Given the description of an element on the screen output the (x, y) to click on. 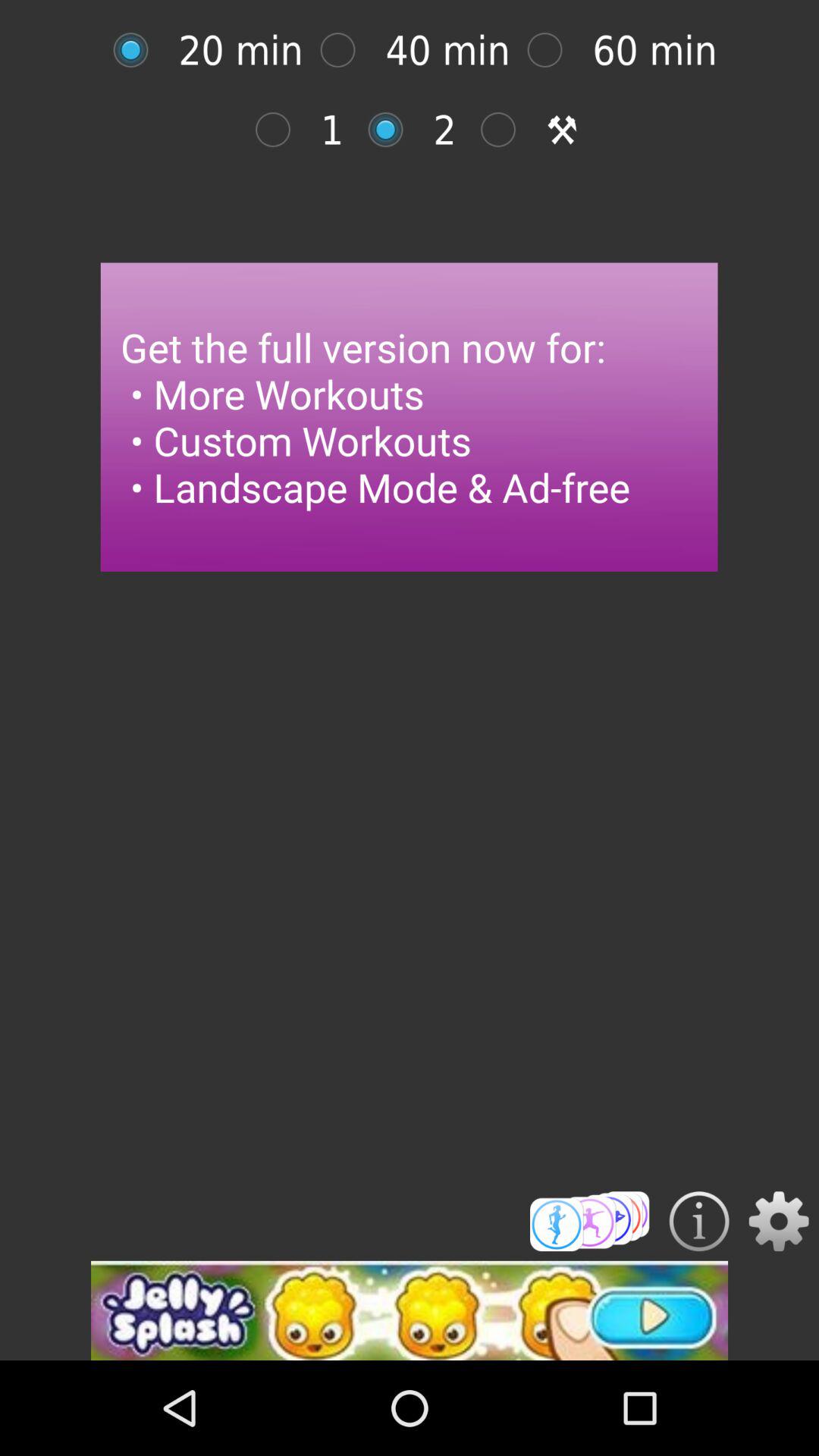
toggle option 2 (393, 129)
